Given the description of an element on the screen output the (x, y) to click on. 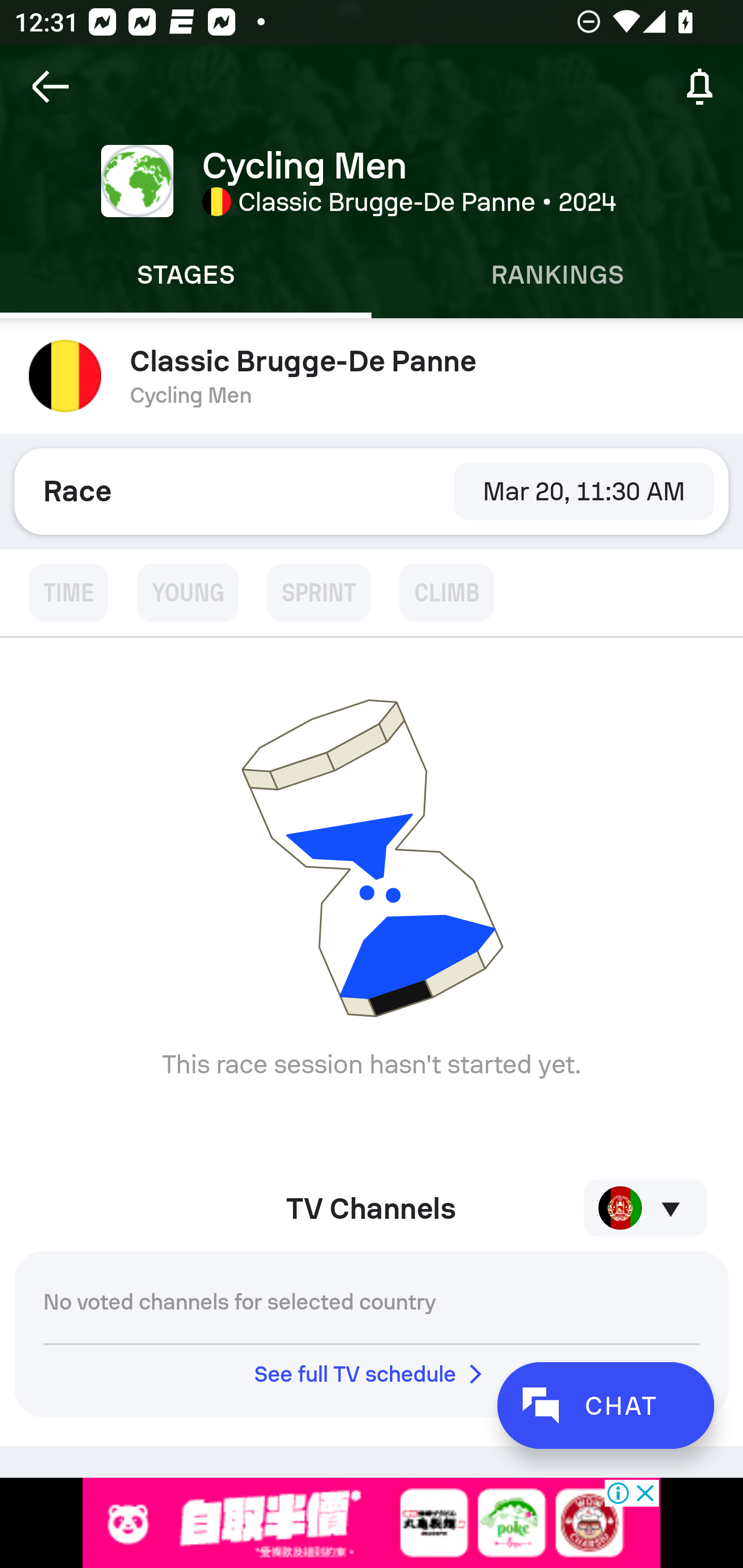
Navigate up (50, 86)
Rankings RANKINGS (557, 275)
Race Mar 20, 11:30 AM (371, 491)
Mar 20, 11:30 AM (583, 491)
See full TV schedule (371, 1374)
CHAT (605, 1405)
Advertisement (371, 1522)
